Given the description of an element on the screen output the (x, y) to click on. 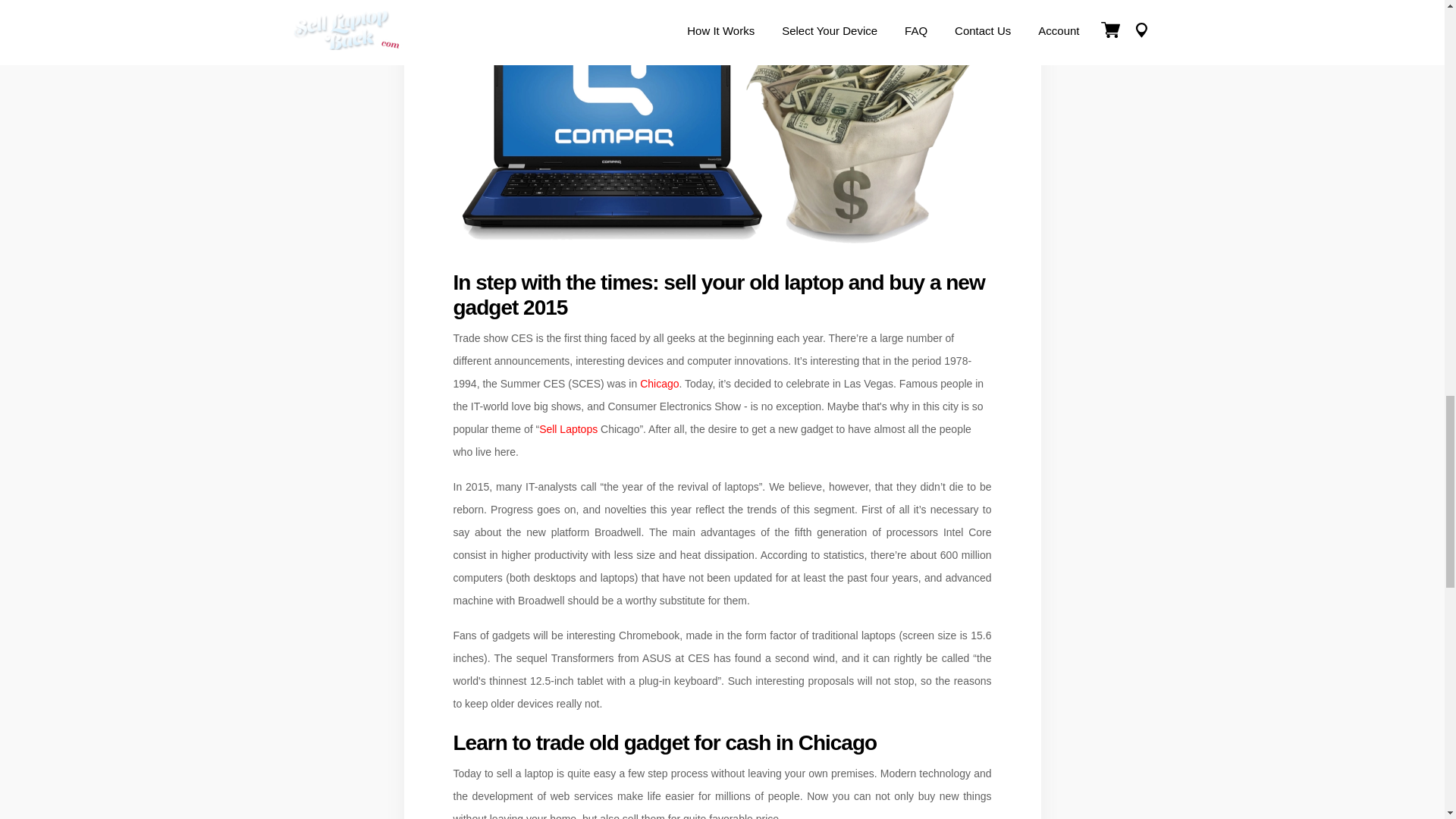
Chicago (659, 383)
Sell Laptops (567, 428)
